Given the description of an element on the screen output the (x, y) to click on. 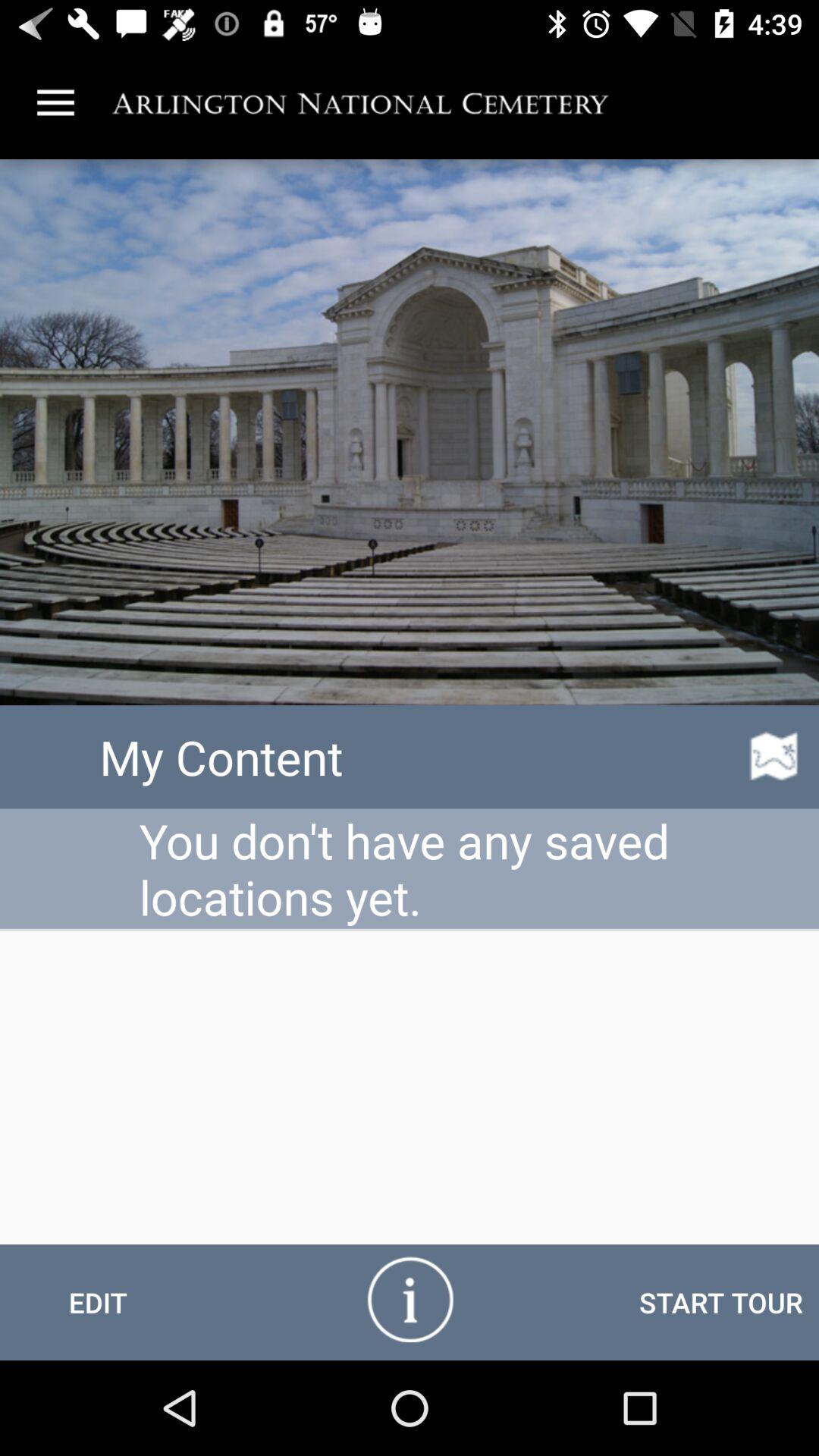
view the instructions (409, 1298)
